Given the description of an element on the screen output the (x, y) to click on. 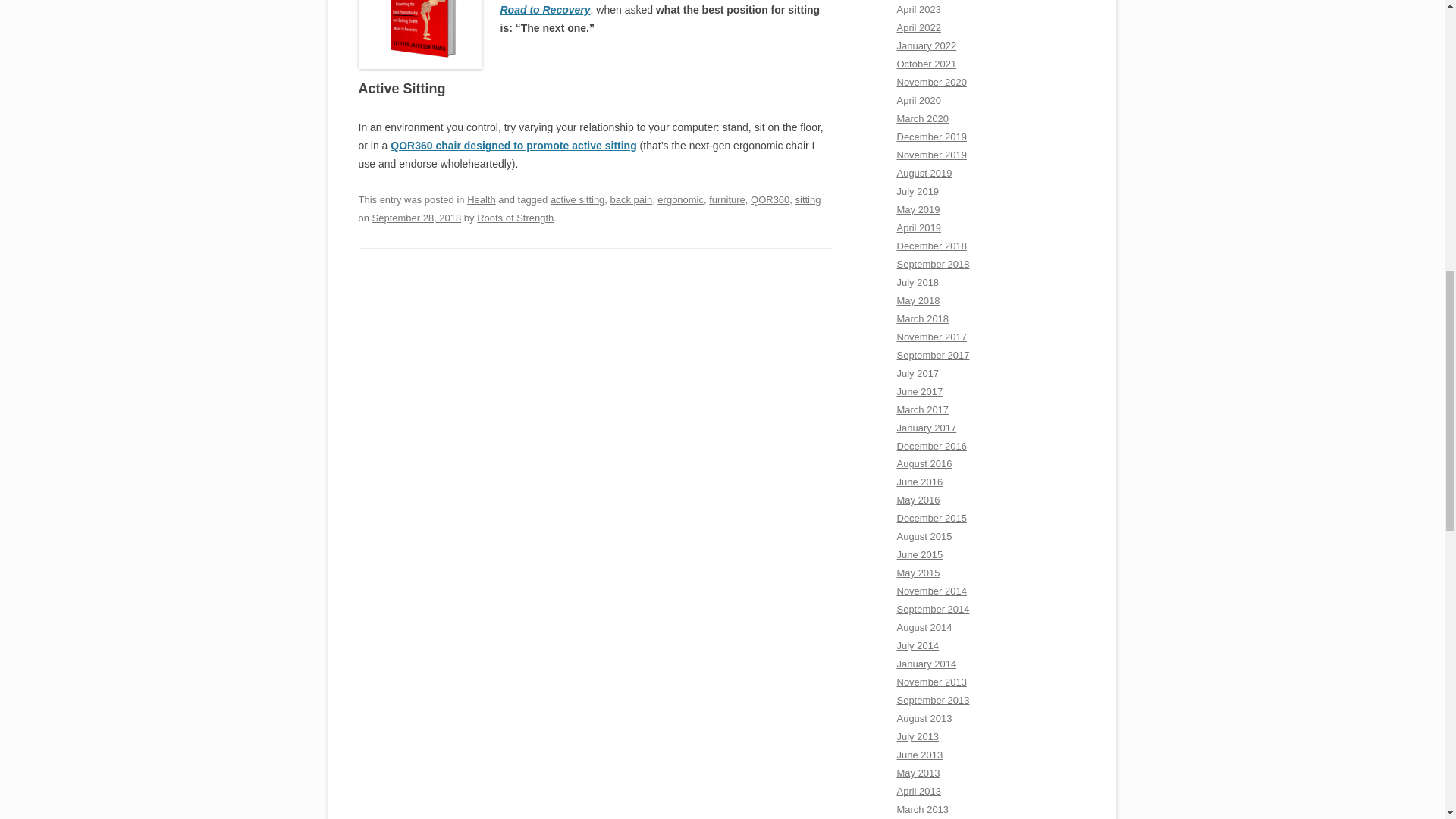
7:55 pm (416, 217)
Roots of Strength (515, 217)
sitting (807, 199)
active sitting (577, 199)
sitting (621, 145)
ergonomic (680, 199)
Health (481, 199)
View all posts by Roots of Strength (515, 217)
QOR360 (770, 199)
furniture (727, 199)
September 28, 2018 (416, 217)
back pain (631, 199)
QOR360 chair designed to promote active (497, 145)
